Given the description of an element on the screen output the (x, y) to click on. 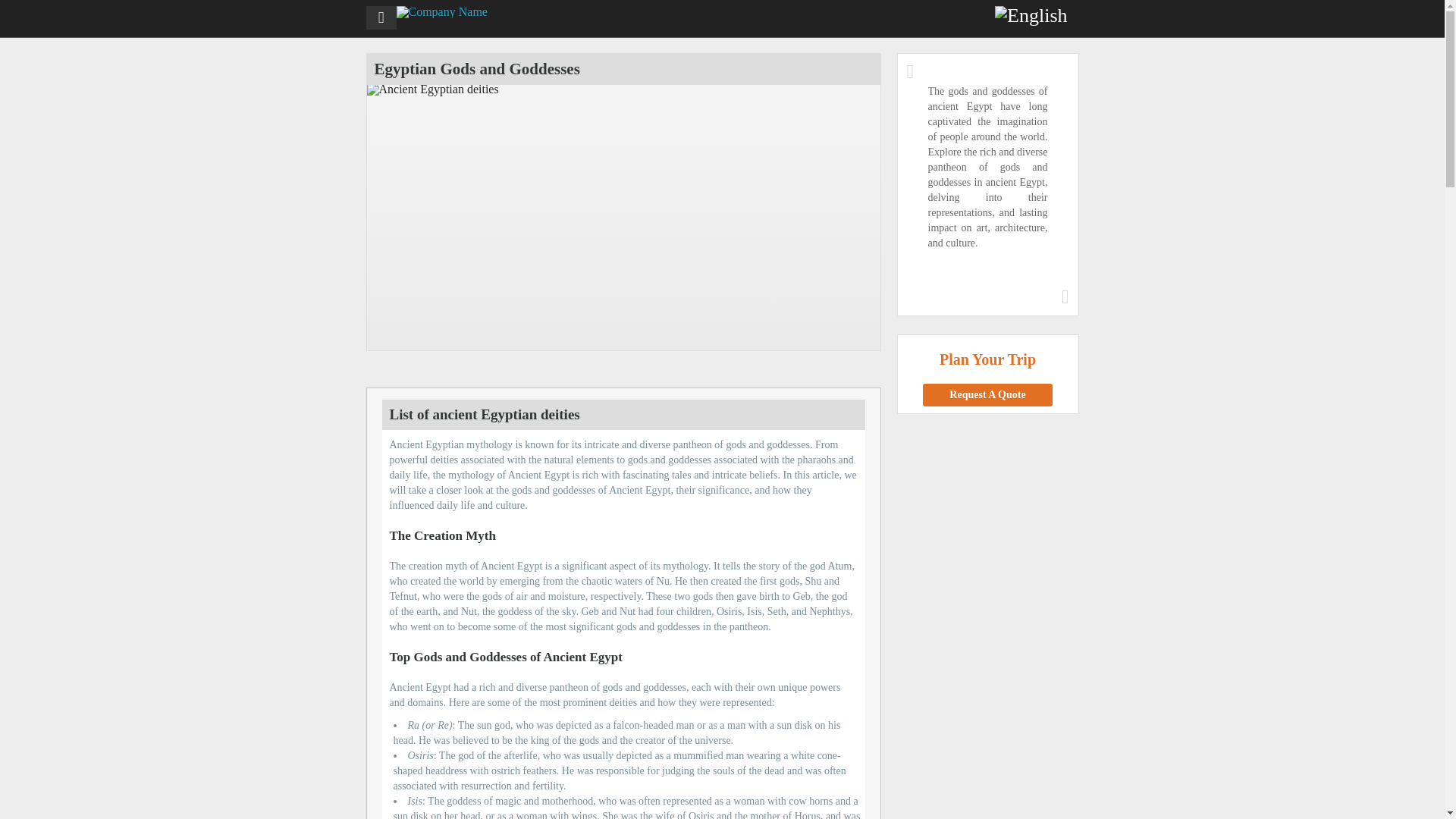
English (1030, 15)
Egypt Travel Gate (441, 11)
